Given the description of an element on the screen output the (x, y) to click on. 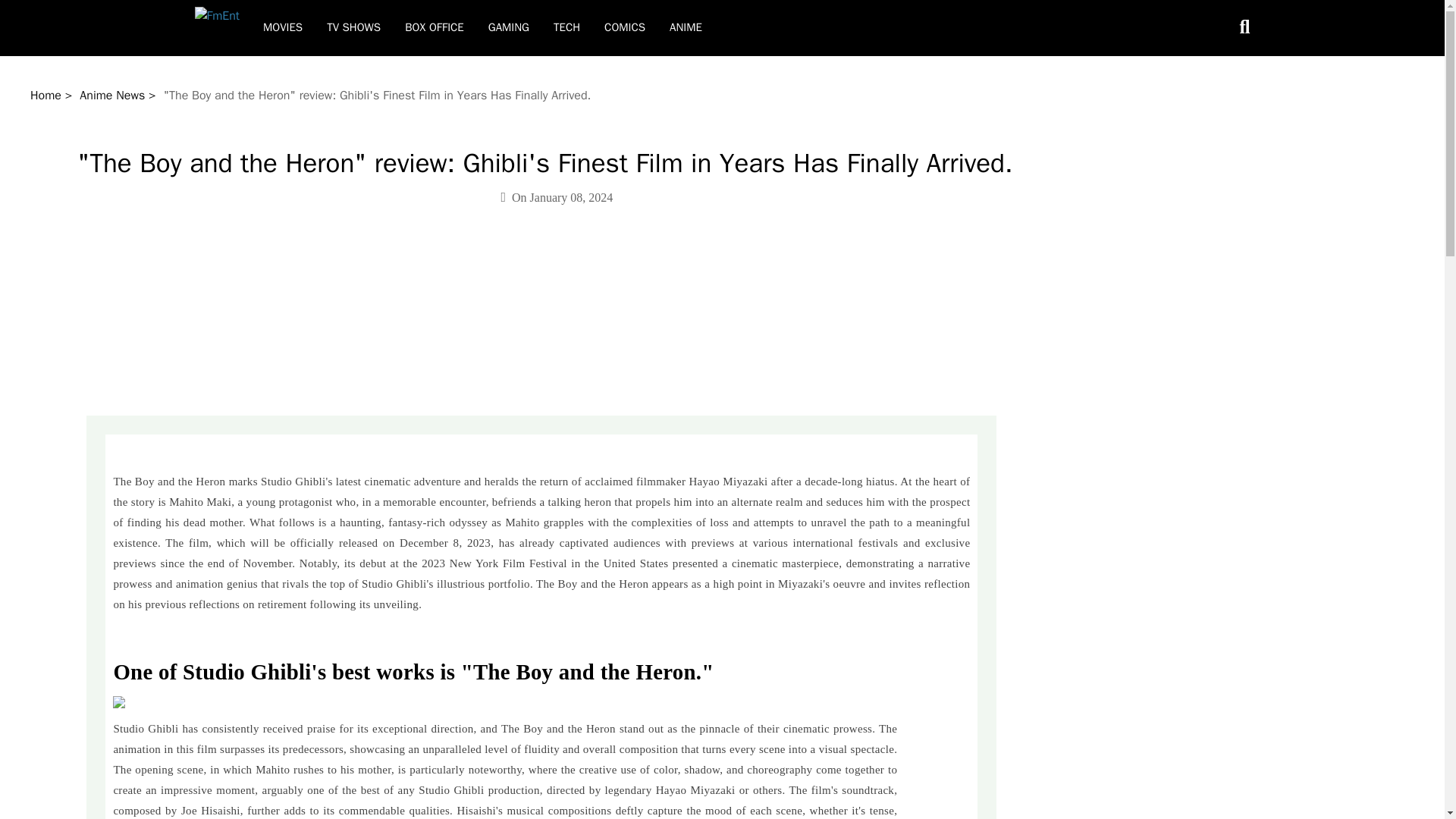
ANIME (685, 27)
Anime News (112, 95)
BOX OFFICE (434, 27)
MOVIES (282, 27)
TV SHOWS (353, 27)
Home (45, 95)
GAMING (508, 27)
COMICS (624, 27)
